Given the description of an element on the screen output the (x, y) to click on. 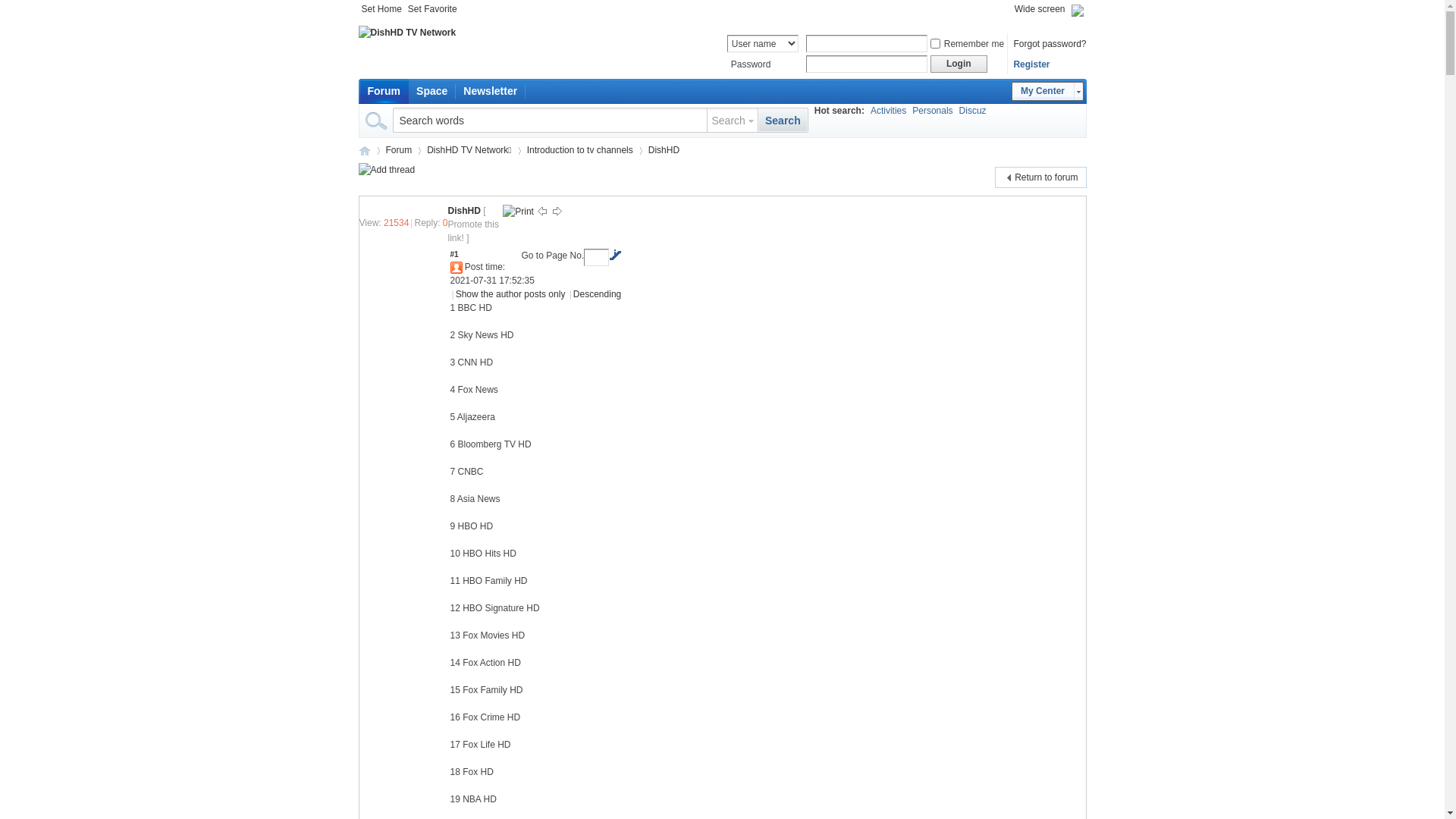
Activities Element type: text (888, 110)
Jump to specified page Element type: hover (614, 254)
Add thread Element type: hover (385, 169)
DishHD TV Network Element type: hover (406, 32)
Descending Element type: text (597, 293)
Introduction to tv channels Element type: text (580, 150)
Search Element type: text (782, 120)
DishHD Element type: text (663, 150)
My Center Element type: text (1047, 90)
Return to forum Element type: text (1039, 177)
Register Element type: text (1031, 64)
Jump to specified page Element type: hover (595, 257)
Login Element type: text (958, 63)
DishHD TV Network Element type: text (363, 150)
Change language Element type: hover (1076, 9)
Set Home Element type: text (380, 9)
Show the author posts only Element type: text (510, 293)
Discuz Element type: text (972, 110)
Personals Element type: text (932, 110)
Print Element type: hover (517, 210)
DishHD Element type: text (464, 210)
Forum Element type: text (383, 90)
Forgot password? Element type: text (1049, 42)
Prev. thread Element type: hover (542, 210)
Search Element type: text (732, 120)
Space Element type: text (431, 90)
[ Promote this link! ] Element type: text (473, 224)
Forum Element type: text (398, 150)
Set Favorite Element type: text (432, 9)
Next thread Element type: hover (557, 210)
Wide screen Element type: text (1039, 9)
#1 Element type: text (454, 257)
Newsletter Element type: text (489, 90)
